Given the description of an element on the screen output the (x, y) to click on. 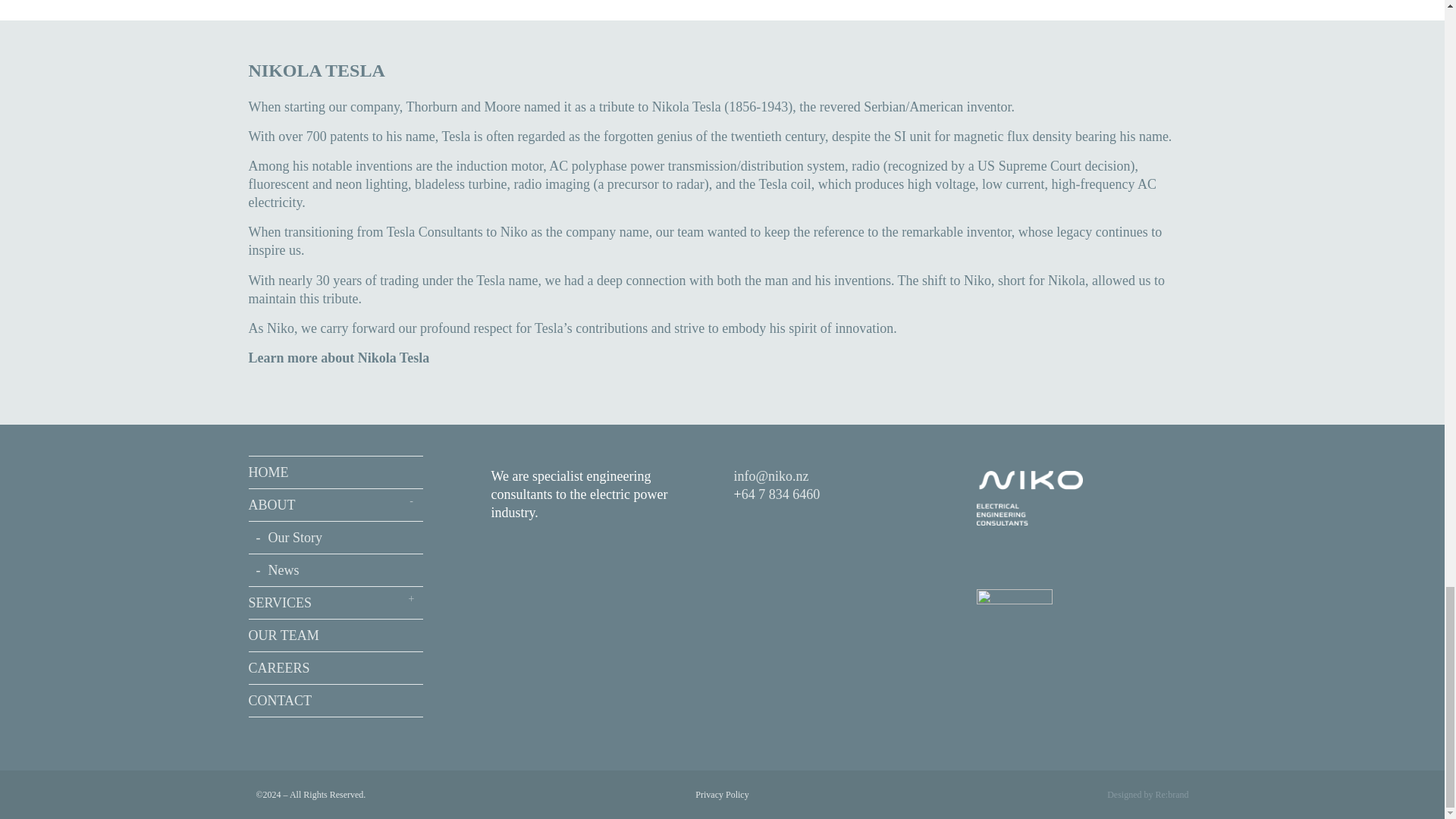
Our Story (335, 537)
SERVICES (335, 603)
HOME (335, 471)
ABOUT (335, 504)
OUR TEAM (335, 635)
Learn more about Nikola Tesla (338, 357)
Privacy Policy (721, 794)
News (335, 570)
CAREERS (335, 667)
CONTACT (335, 700)
Designed by Re:brand (1147, 794)
64 7 834 6460 (781, 494)
